Given the description of an element on the screen output the (x, y) to click on. 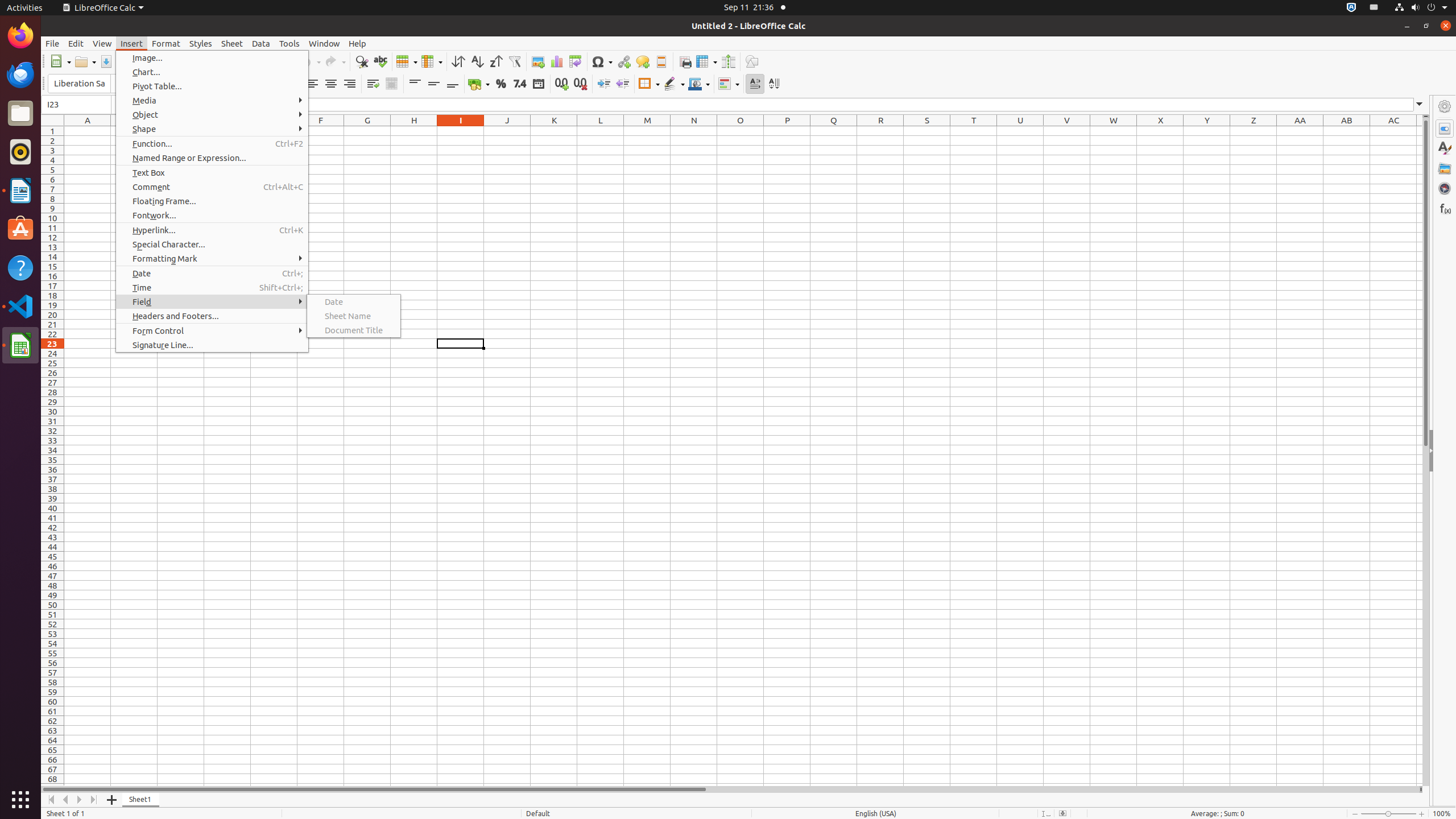
Print Area Element type: push-button (684, 61)
Pivot Table Element type: push-button (574, 61)
Date Element type: menu-item (353, 301)
Merge and Center Cells Element type: push-button (391, 83)
Font Name Element type: text (78, 83)
